Given the description of an element on the screen output the (x, y) to click on. 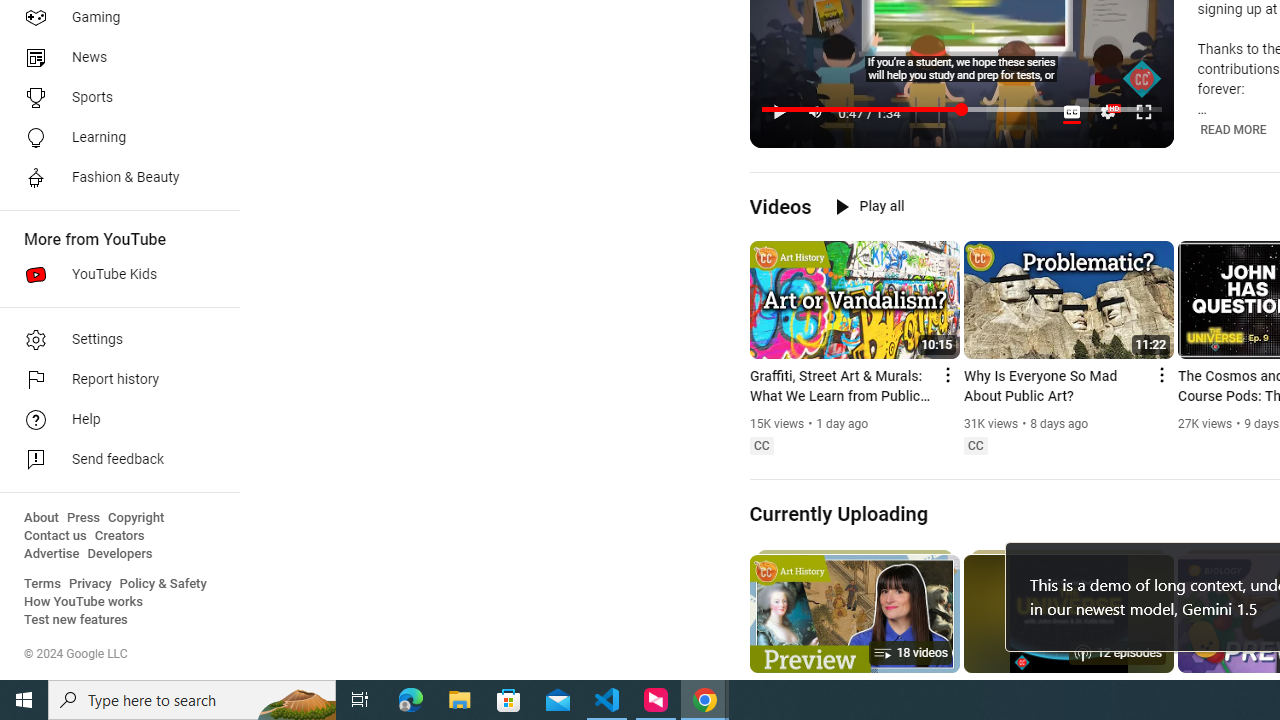
Send feedback (113, 459)
Creators (118, 536)
Seek slider (961, 109)
Fashion & Beauty (113, 177)
Closed captions (975, 446)
Advertise (51, 554)
Developers (120, 554)
Mute (m) (815, 112)
READ MORE (1232, 129)
Copyright (136, 518)
Play all (870, 206)
